Given the description of an element on the screen output the (x, y) to click on. 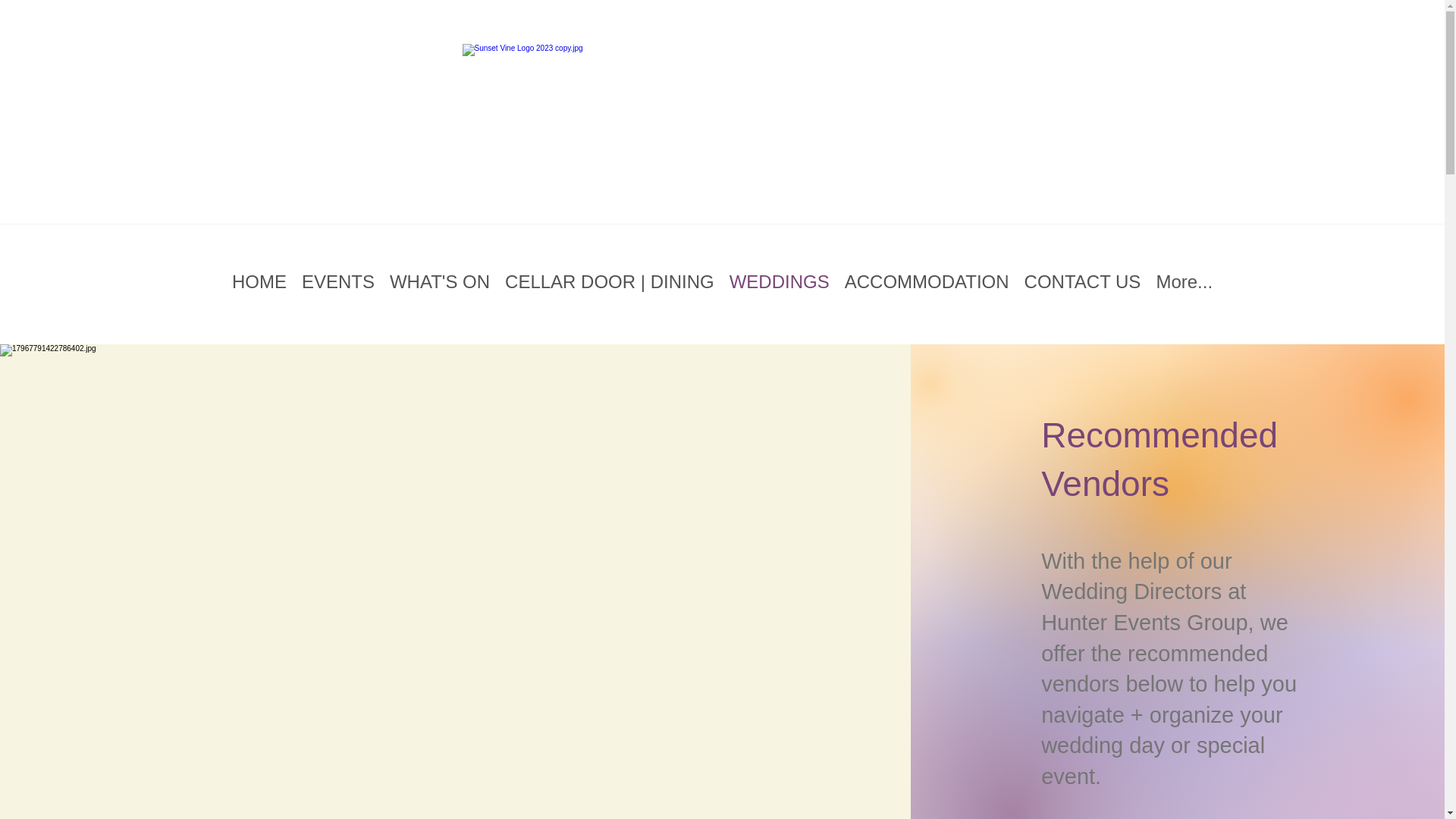
WHAT'S ON (439, 282)
CONTACT US (1082, 282)
ACCOMMODATION (926, 282)
HOME (259, 282)
EVENTS (337, 282)
WEDDINGS (779, 282)
